Given the description of an element on the screen output the (x, y) to click on. 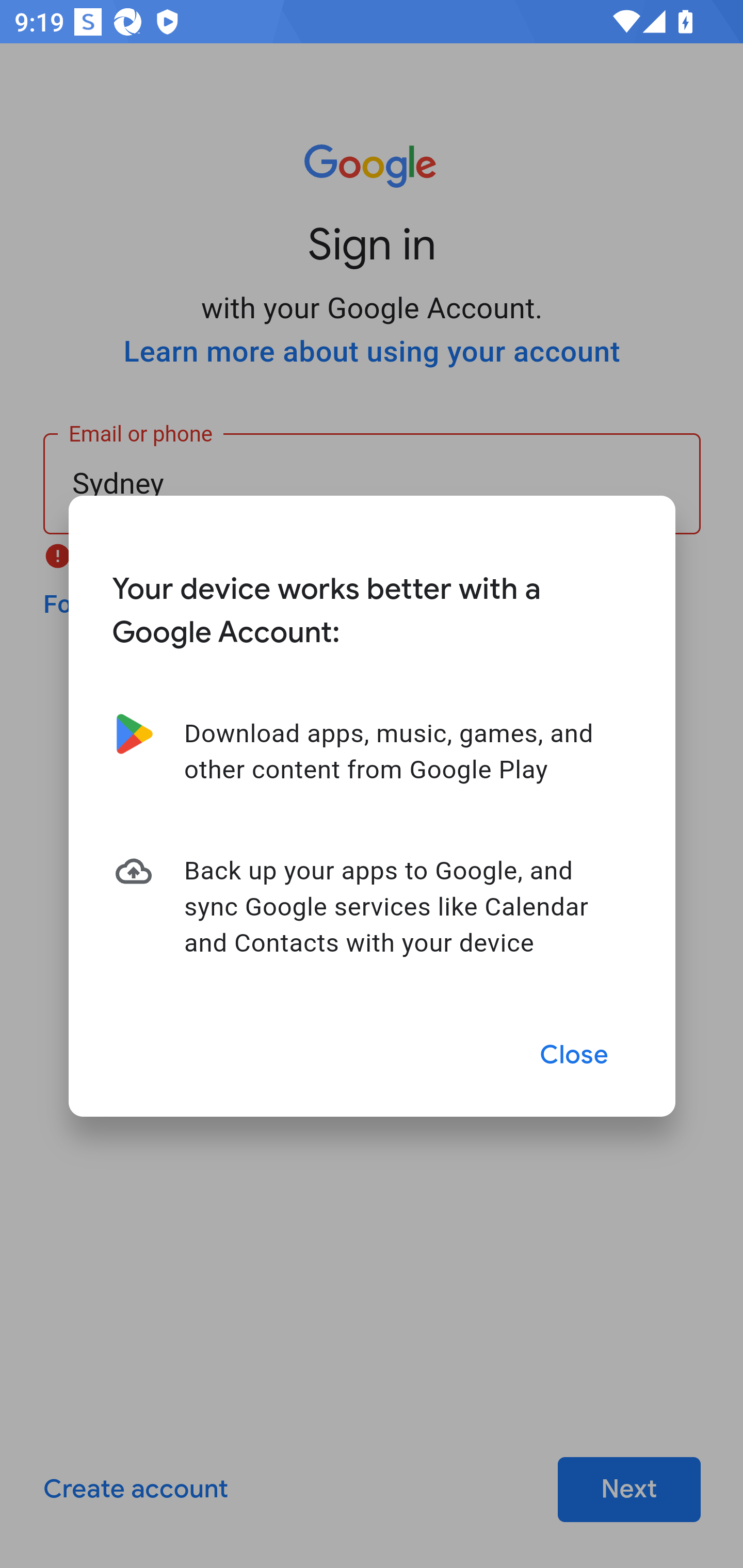
Close (574, 1055)
